Given the description of an element on the screen output the (x, y) to click on. 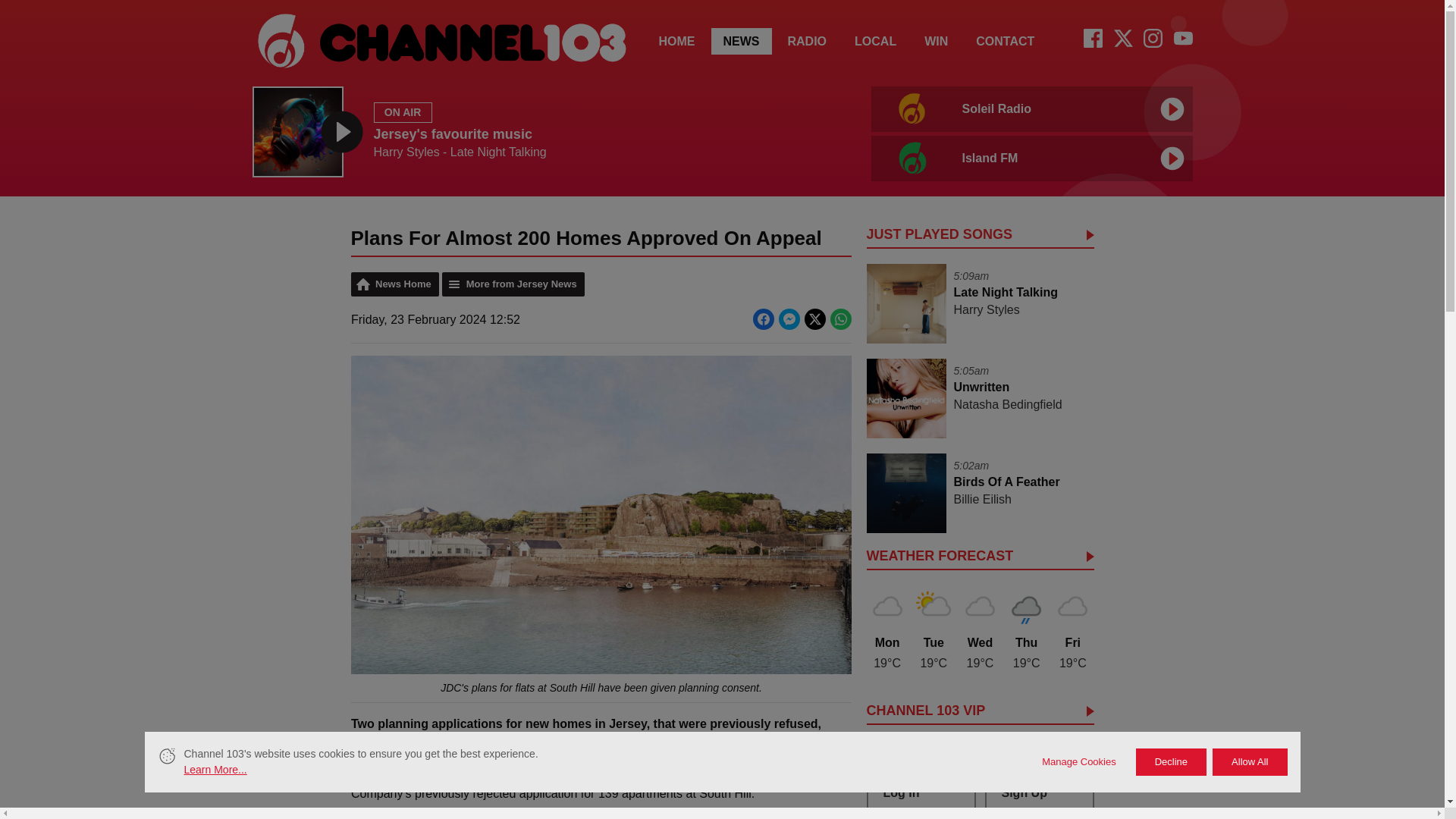
HOME (676, 40)
X (1122, 42)
RADIO (806, 40)
X (1122, 37)
WIN (935, 40)
NEWS (1027, 131)
LOCAL (741, 40)
CONTACT (875, 40)
